Given the description of an element on the screen output the (x, y) to click on. 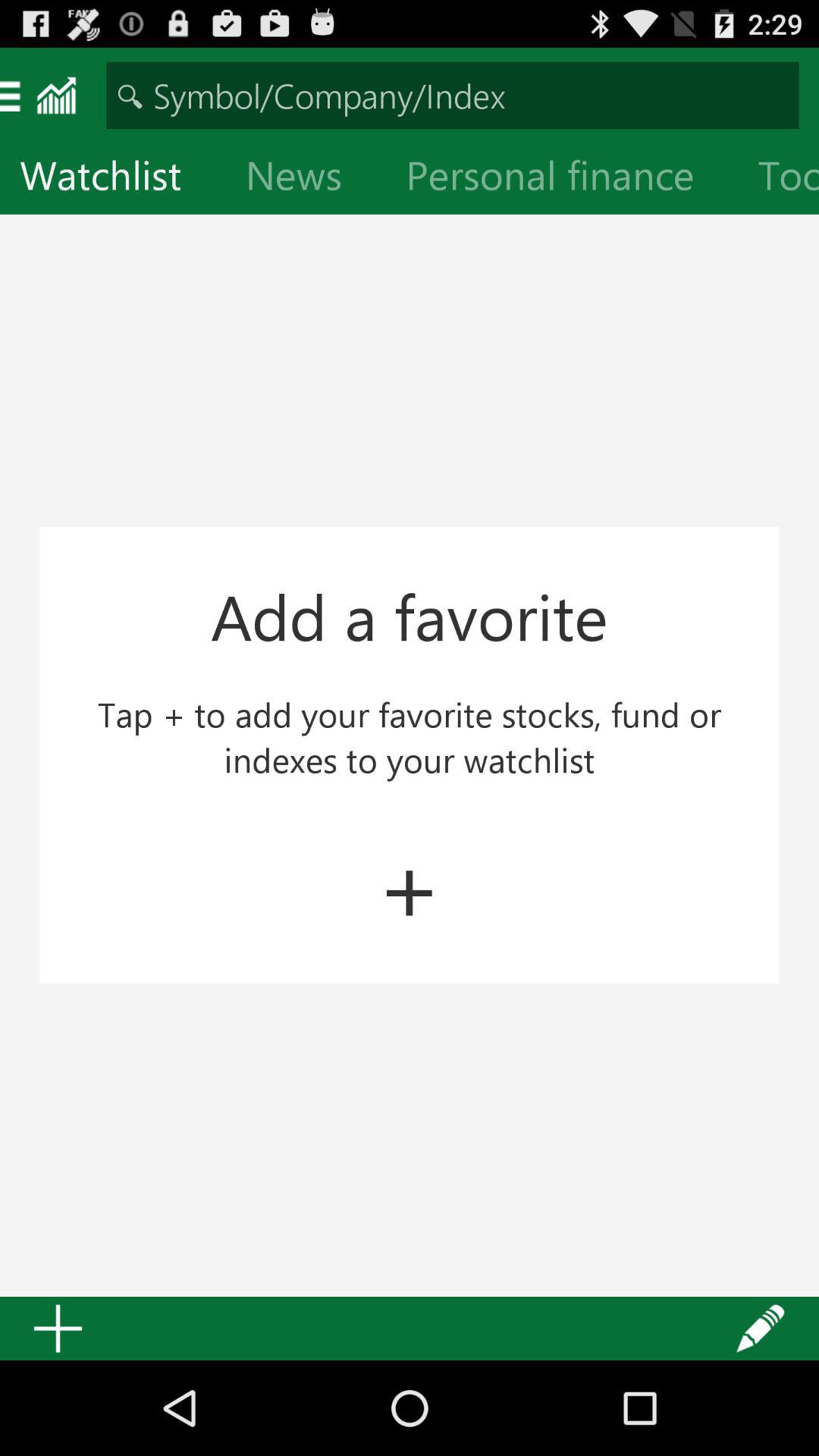
search option (452, 95)
